Given the description of an element on the screen output the (x, y) to click on. 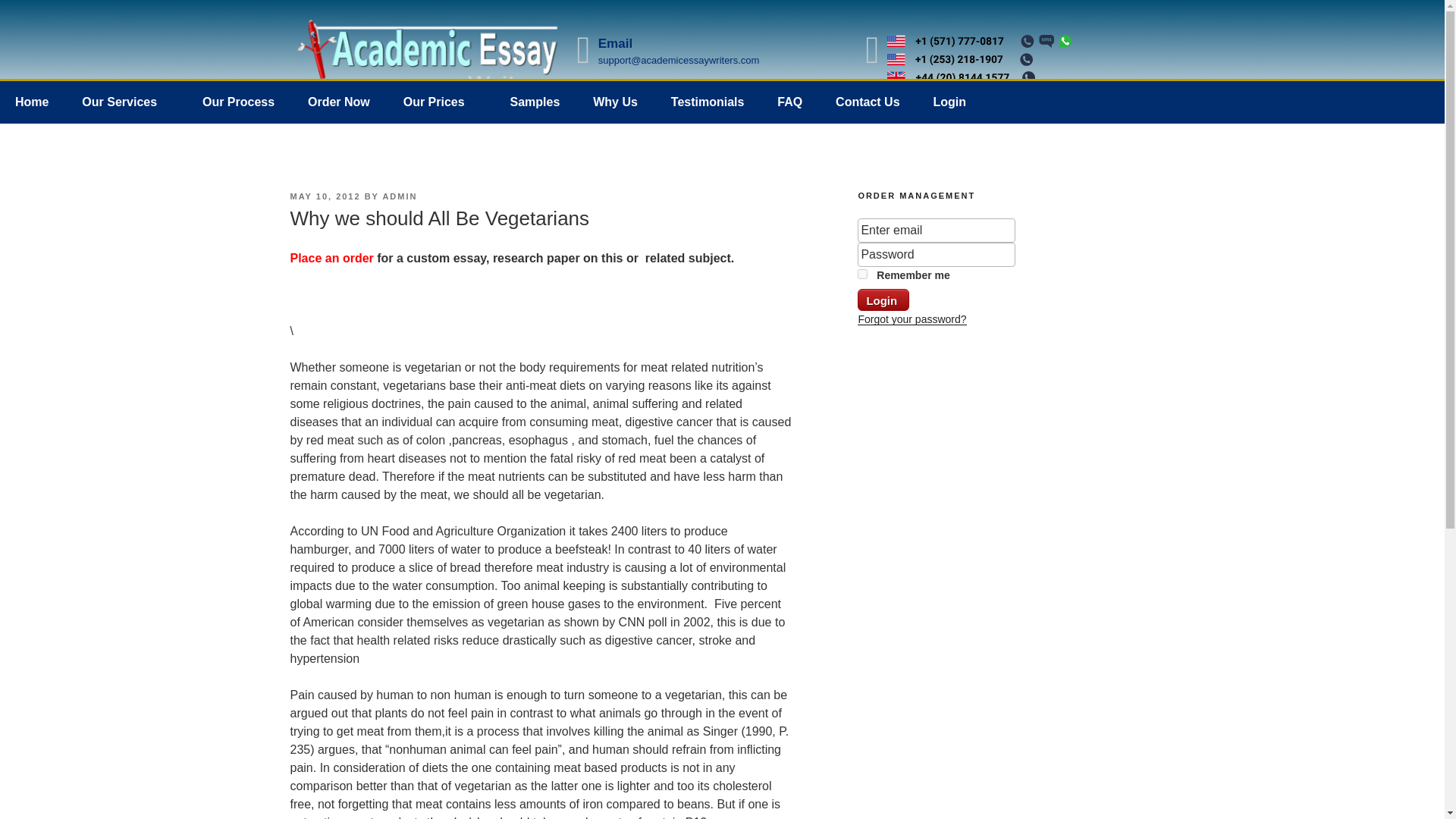
click to Login (882, 300)
Our Process (238, 102)
Order Now (338, 102)
Contact Us (867, 102)
Our Services (125, 102)
Home (32, 102)
MAY 10, 2012 (324, 195)
ADMIN (398, 195)
Our Prices (440, 102)
Samples (535, 102)
